Given the description of an element on the screen output the (x, y) to click on. 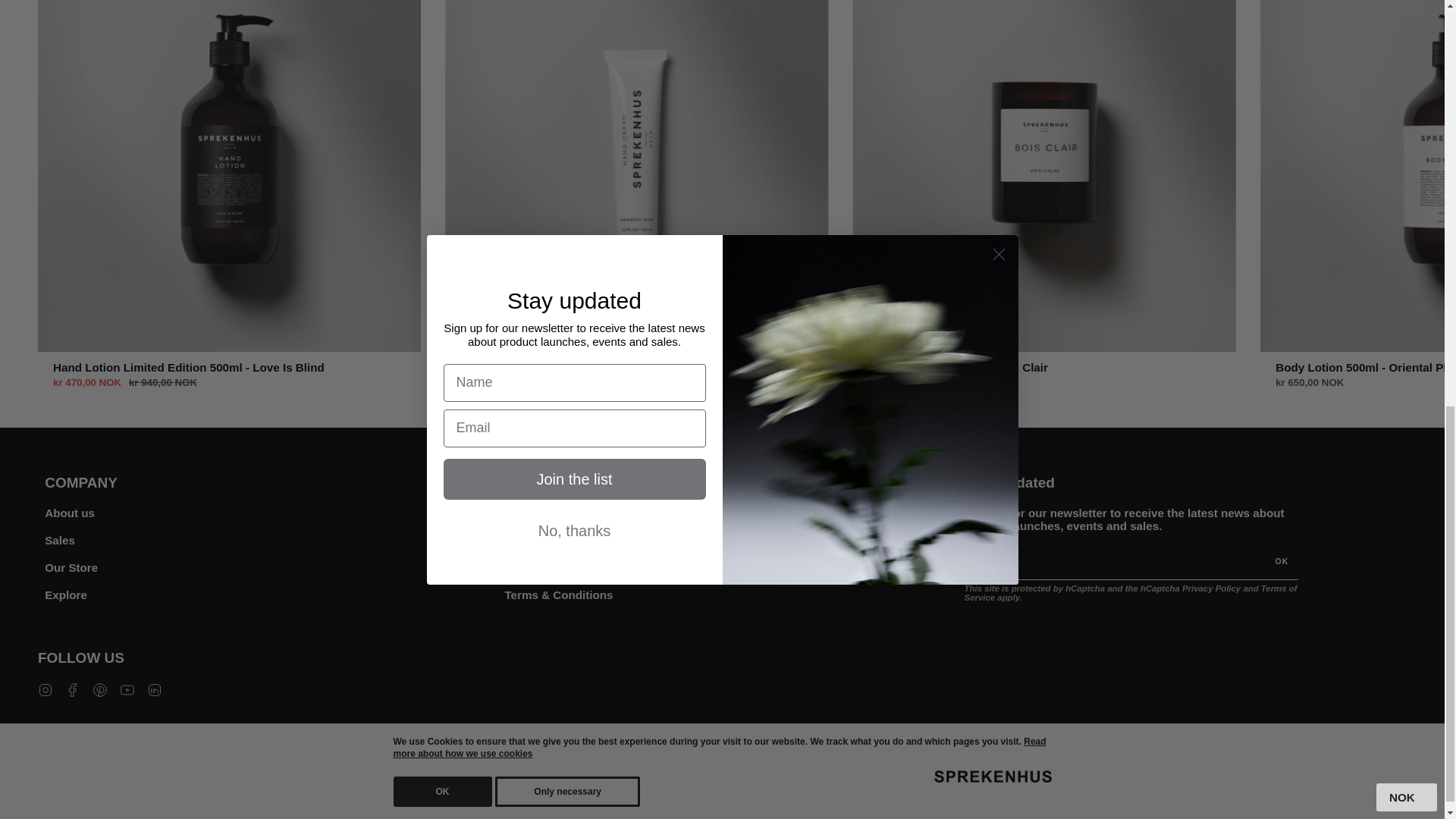
SPREKENHUS on Pinterest (100, 688)
SPREKENHUS on Facebook (72, 688)
SPREKENHUS on Instagram (44, 688)
SPREKENHUS on Linkedin (154, 688)
SPREKENHUS on YouTube (127, 688)
